Given the description of an element on the screen output the (x, y) to click on. 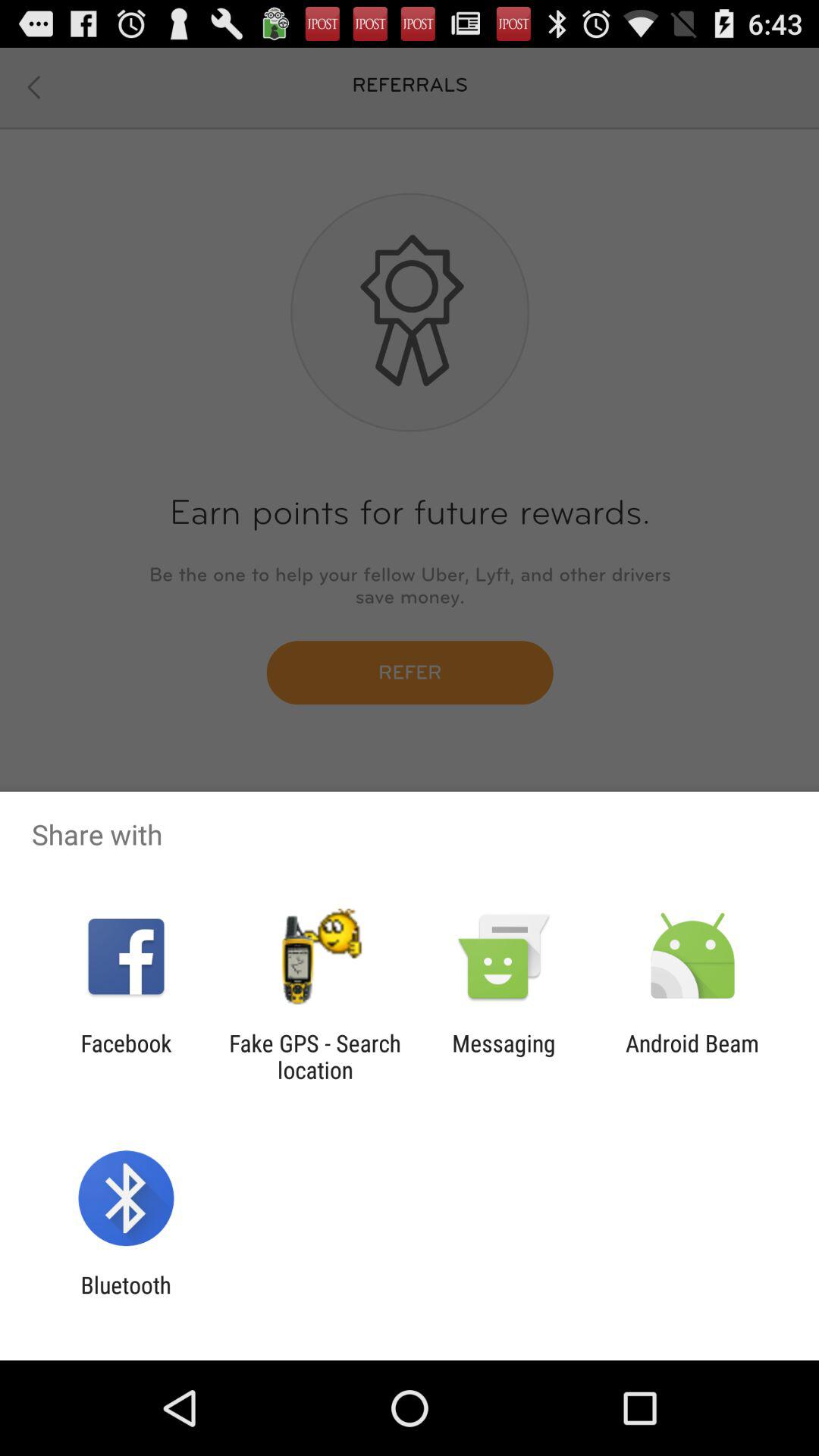
tap the fake gps search item (314, 1056)
